Given the description of an element on the screen output the (x, y) to click on. 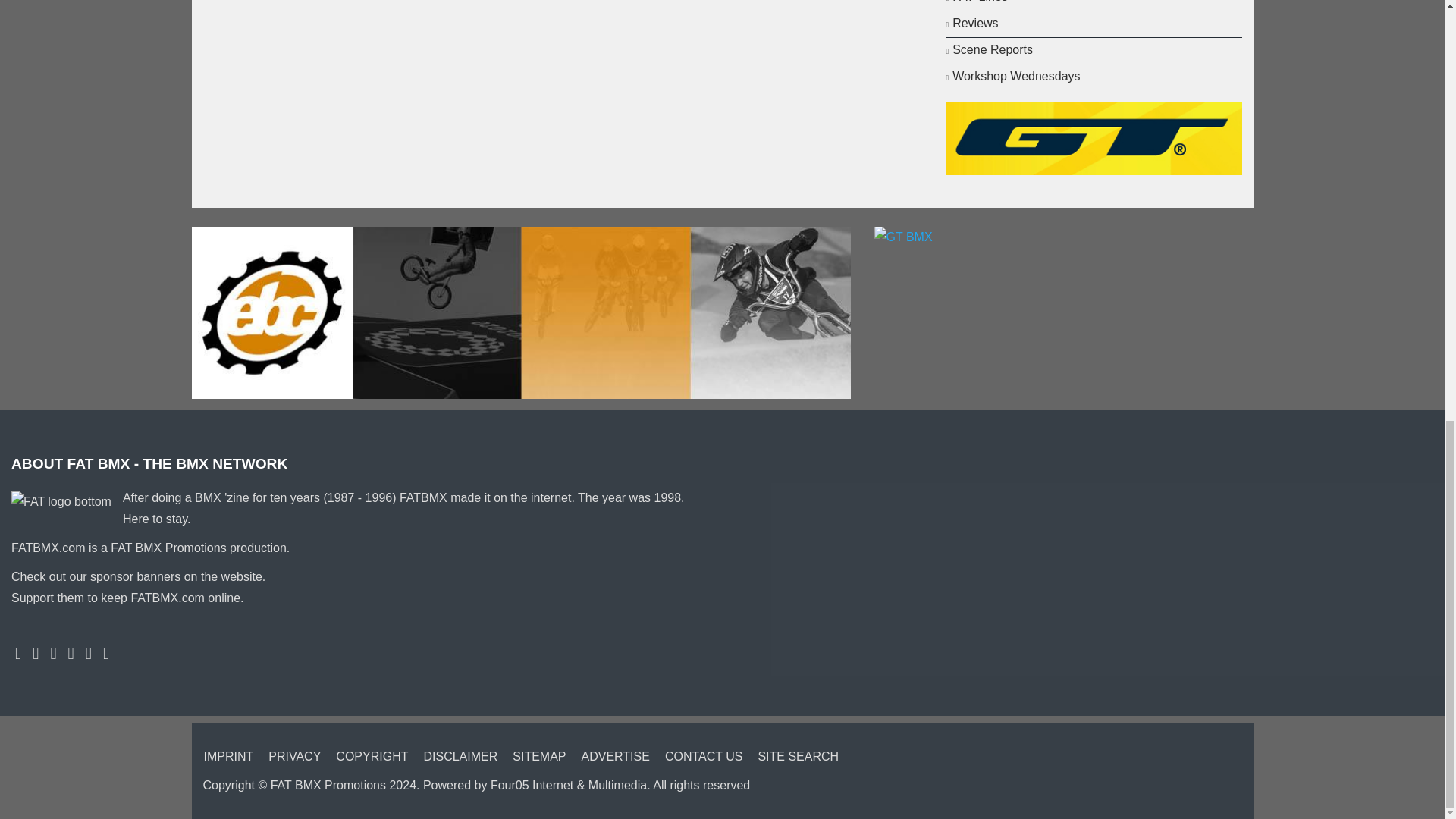
EBC860 (520, 311)
GT BMX (1093, 137)
Four05 Internet Oldenzaal (568, 784)
